Given the description of an element on the screen output the (x, y) to click on. 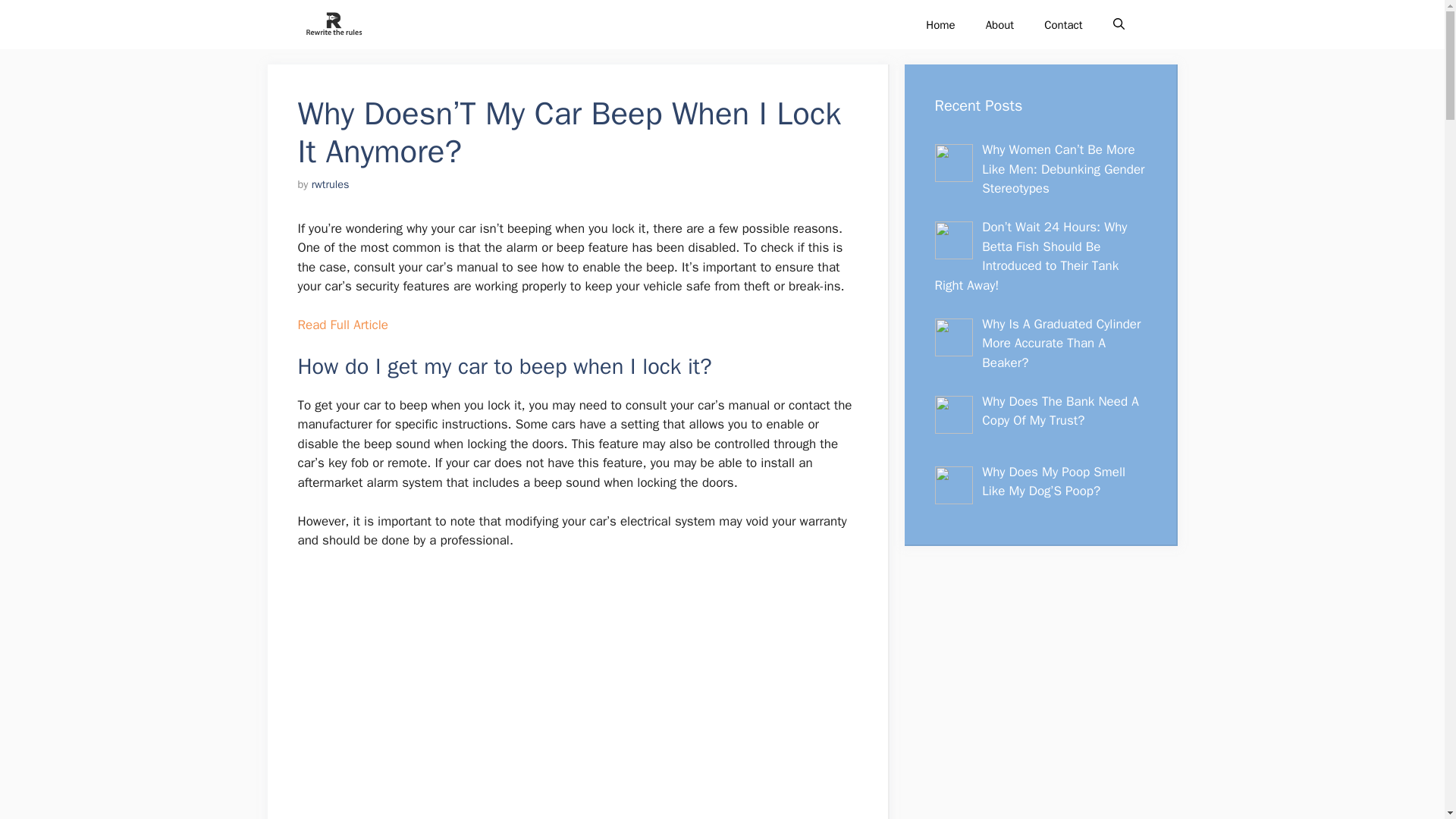
Home (940, 23)
View all posts by rwtrules (330, 183)
Read Full Article (342, 324)
Rewrite The Rules (332, 24)
rwtrules (330, 183)
About (1000, 23)
Contact (1063, 23)
